Given the description of an element on the screen output the (x, y) to click on. 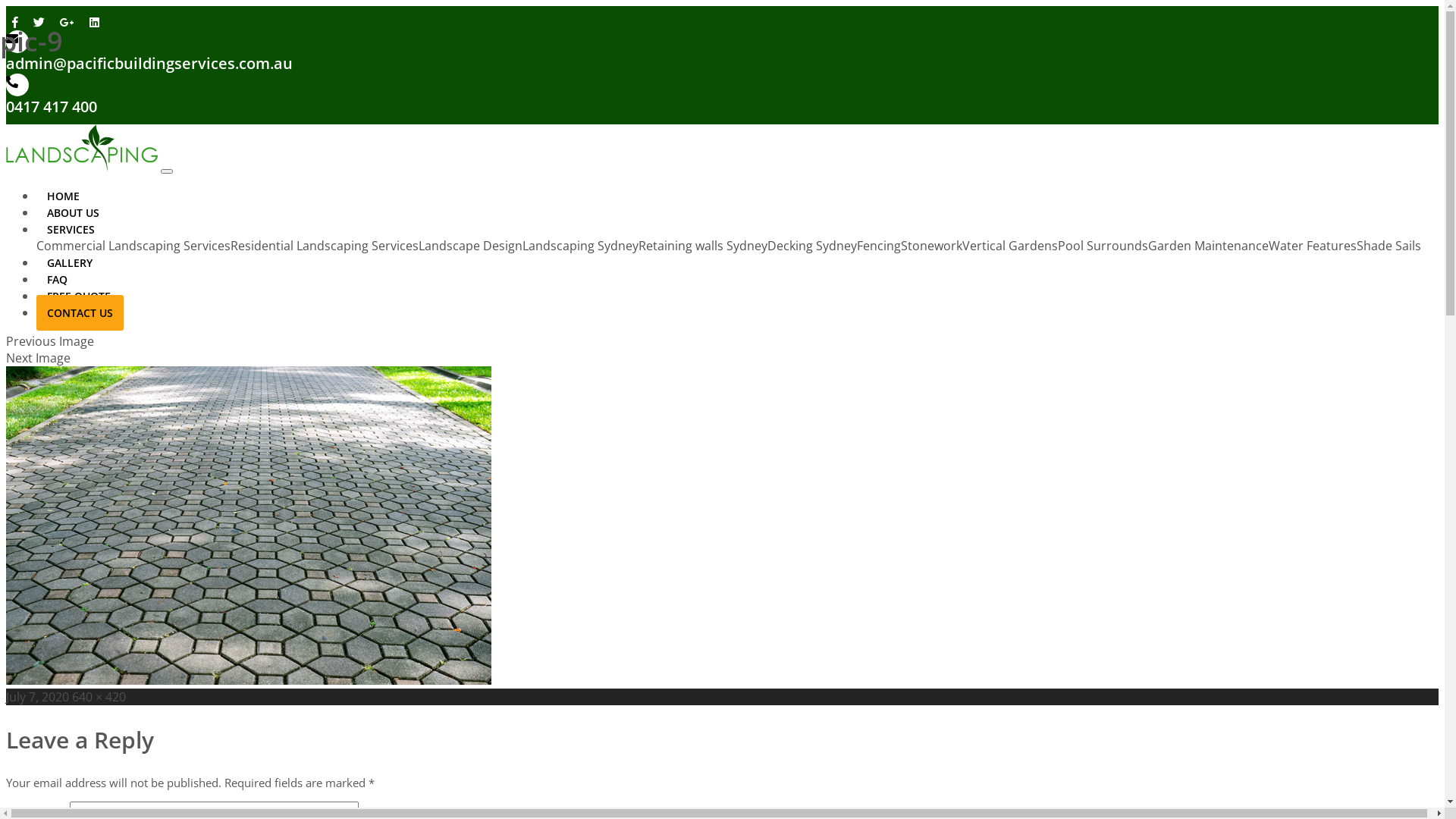
Landscape Design Element type: text (470, 245)
Landscaping Sydney Element type: text (580, 245)
Residential Landscaping Services Element type: text (324, 245)
Water Features Element type: text (1312, 245)
Retaining walls Sydney Element type: text (702, 245)
FREE QUOTE Element type: text (78, 295)
Vertical Gardens Element type: text (1009, 245)
GALLERY Element type: text (69, 262)
0417 417 400 Element type: text (51, 107)
Commercial Landscaping Services Element type: text (133, 245)
ABOUT US Element type: text (72, 212)
Shade Sails Element type: text (1388, 245)
CONTACT US Element type: text (79, 312)
Pool Surrounds Element type: text (1102, 245)
Decking Sydney Element type: text (811, 245)
Fencing Element type: text (878, 245)
Previous Image Element type: text (50, 340)
Stonework Element type: text (931, 245)
HOME Element type: text (63, 195)
Garden Maintenance Element type: text (1208, 245)
FAQ Element type: text (57, 279)
admin@pacificbuildingservices.com.au Element type: text (149, 64)
July 7, 2020 Element type: text (37, 696)
Next Image Element type: text (38, 357)
SERVICES Element type: text (70, 229)
